Given the description of an element on the screen output the (x, y) to click on. 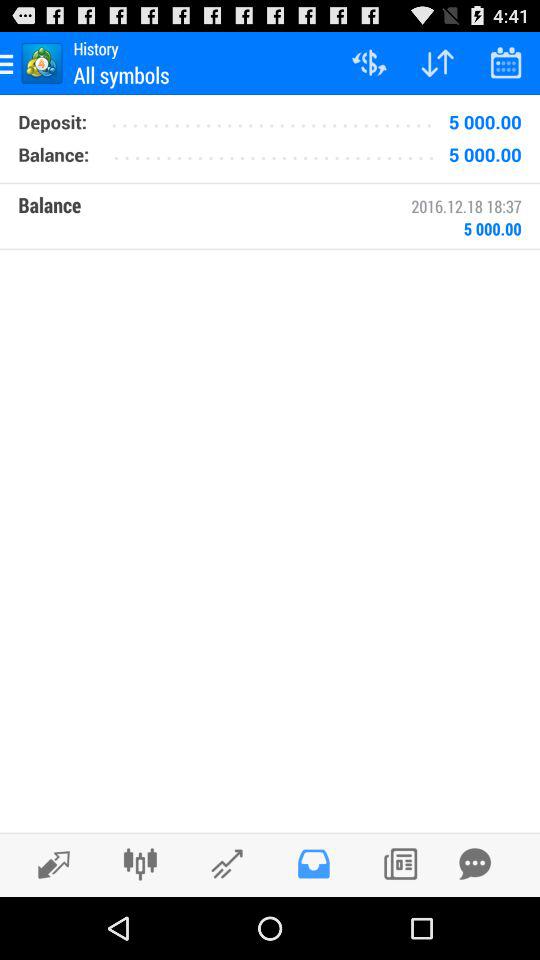
adjust account balances (140, 863)
